Given the description of an element on the screen output the (x, y) to click on. 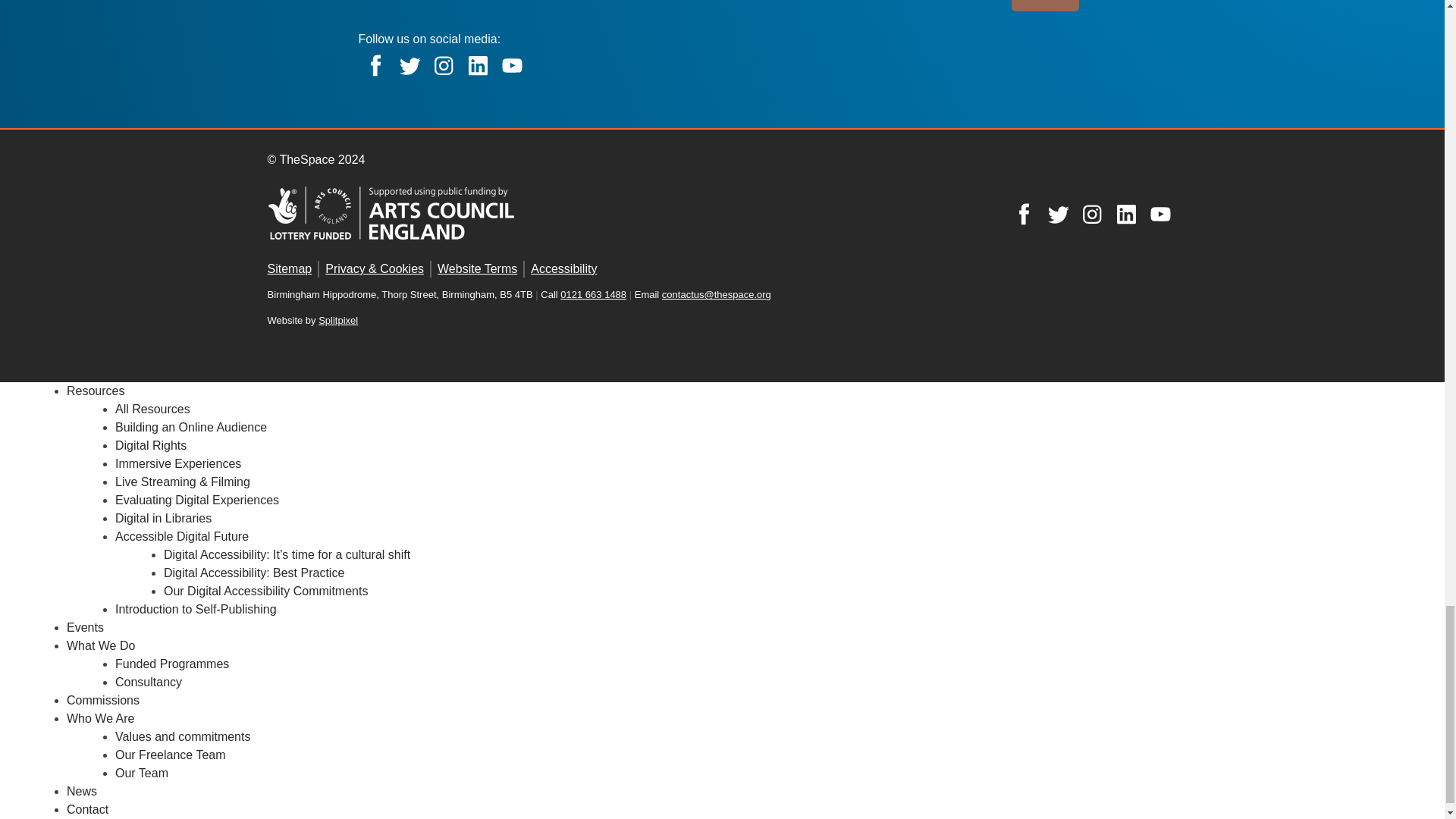
Submit (1044, 5)
